Given the description of an element on the screen output the (x, y) to click on. 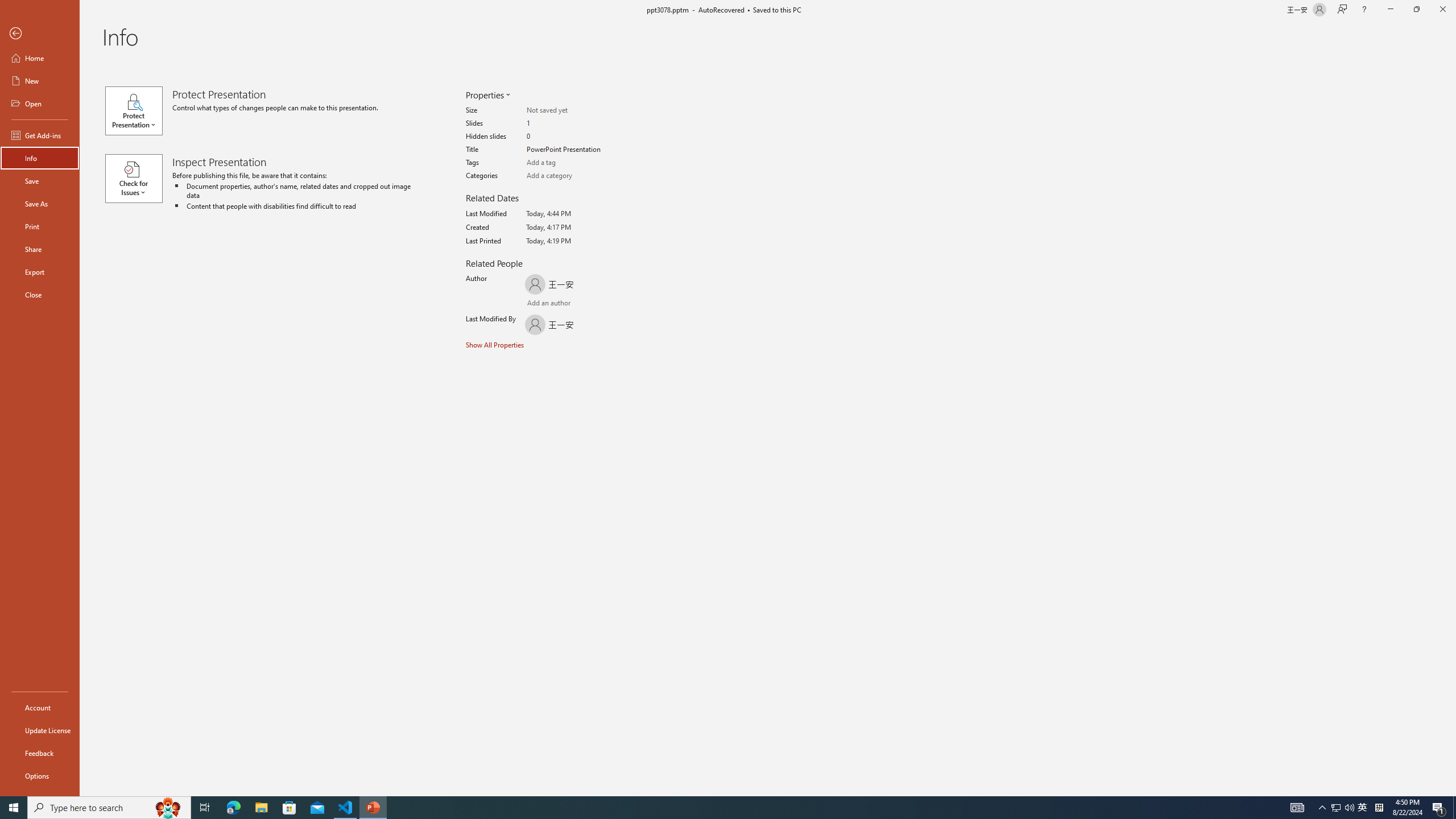
New (40, 80)
Options (40, 775)
Slides (571, 123)
Feedback (40, 753)
Categories (571, 175)
Size (571, 110)
